Given the description of an element on the screen output the (x, y) to click on. 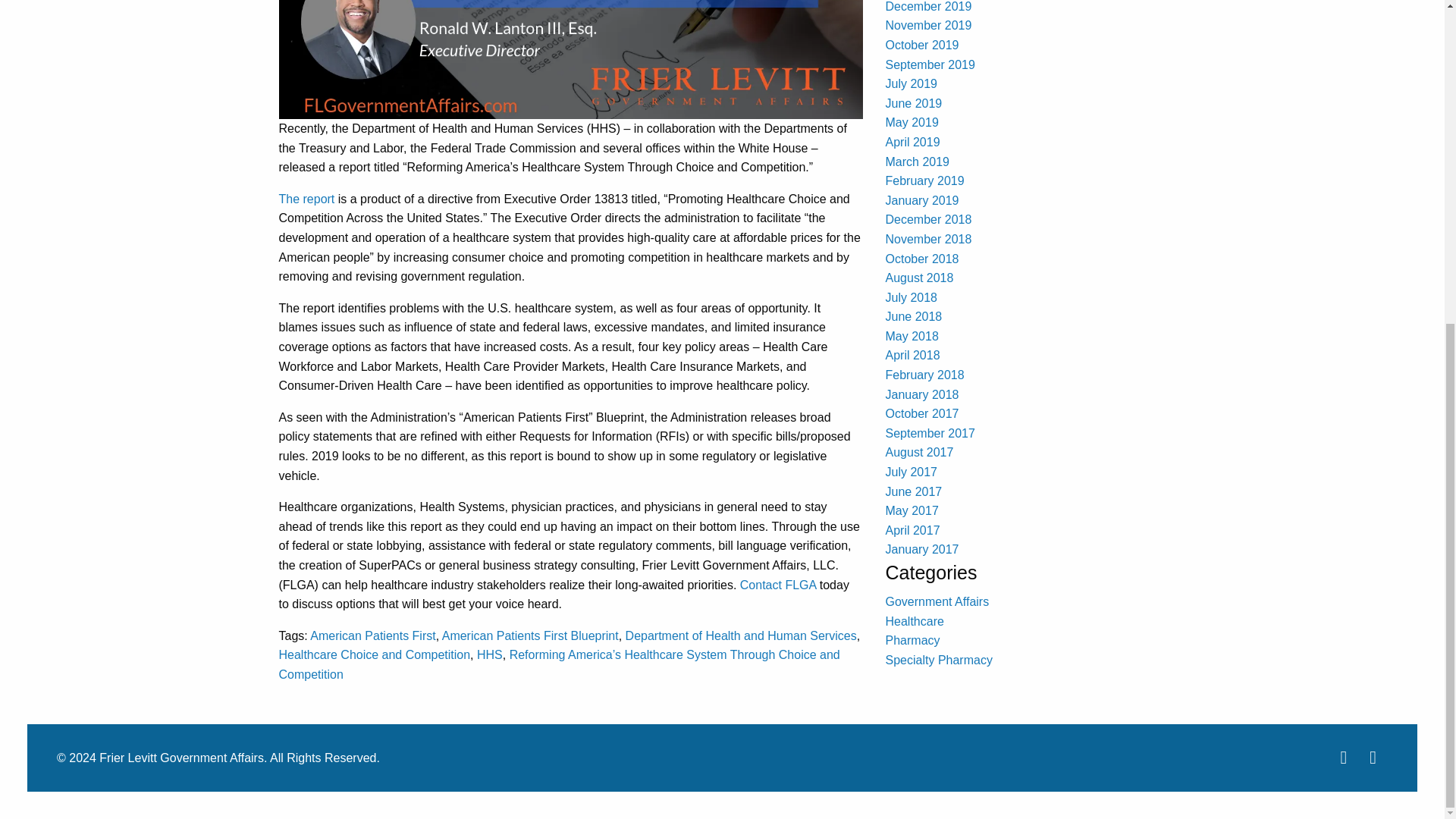
American Patients First (372, 635)
Contact FLGA (777, 584)
December 2019 (928, 6)
Department of Health and Human Services (741, 635)
November 2019 (928, 24)
American Patients First Blueprint (530, 635)
The report (306, 198)
September 2019 (930, 64)
HHS (489, 654)
October 2019 (922, 44)
